Given the description of an element on the screen output the (x, y) to click on. 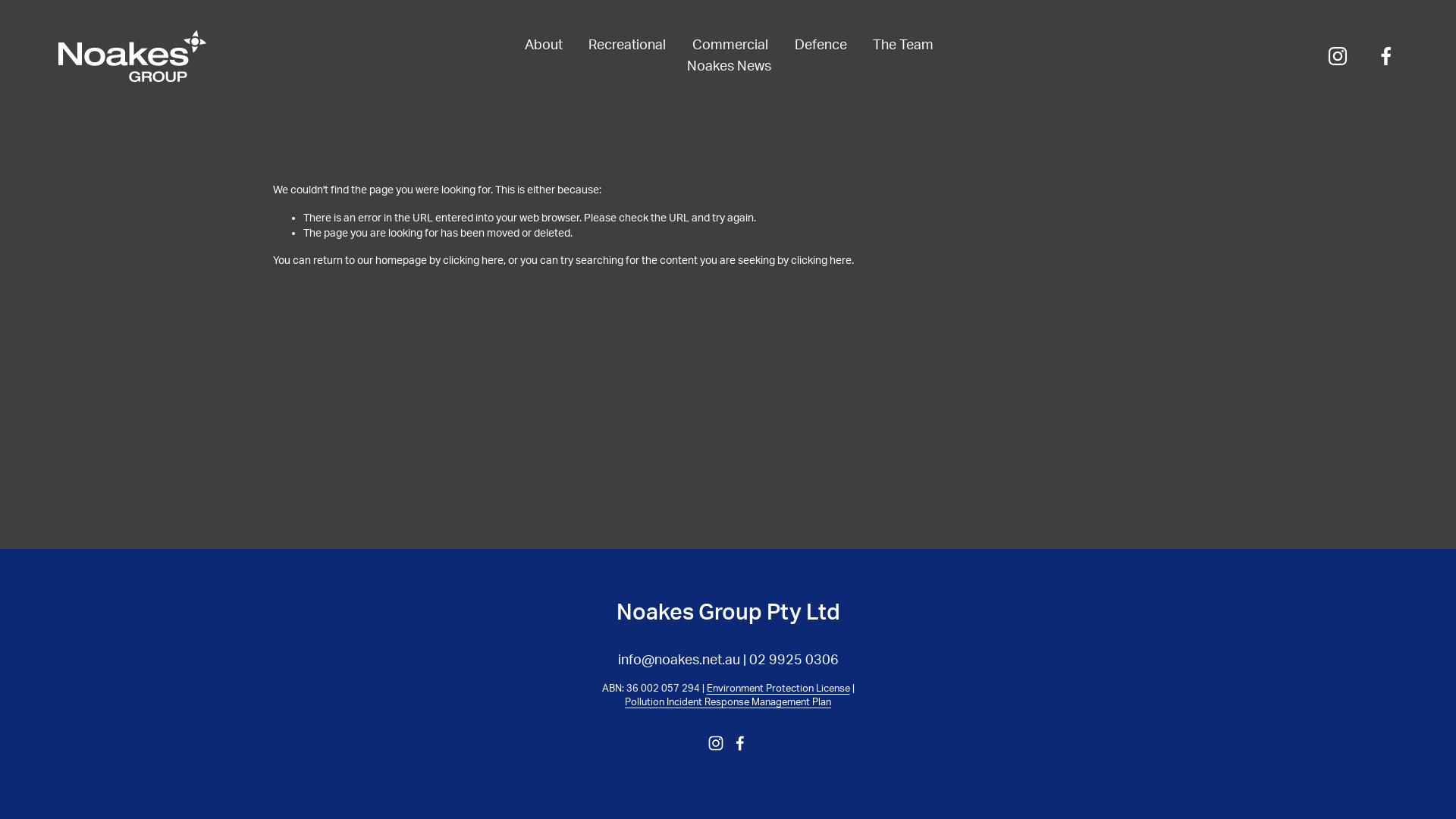
Recreational Element type: text (626, 45)
The Team Element type: text (902, 45)
clicking here Element type: text (820, 260)
Noakes News Element type: text (729, 66)
Pollution Incident Response Management Plan Element type: text (727, 702)
Defence Element type: text (820, 45)
Environment Protection License Element type: text (778, 689)
About Element type: text (543, 45)
clicking here Element type: text (472, 260)
Commercial Element type: text (730, 45)
